Given the description of an element on the screen output the (x, y) to click on. 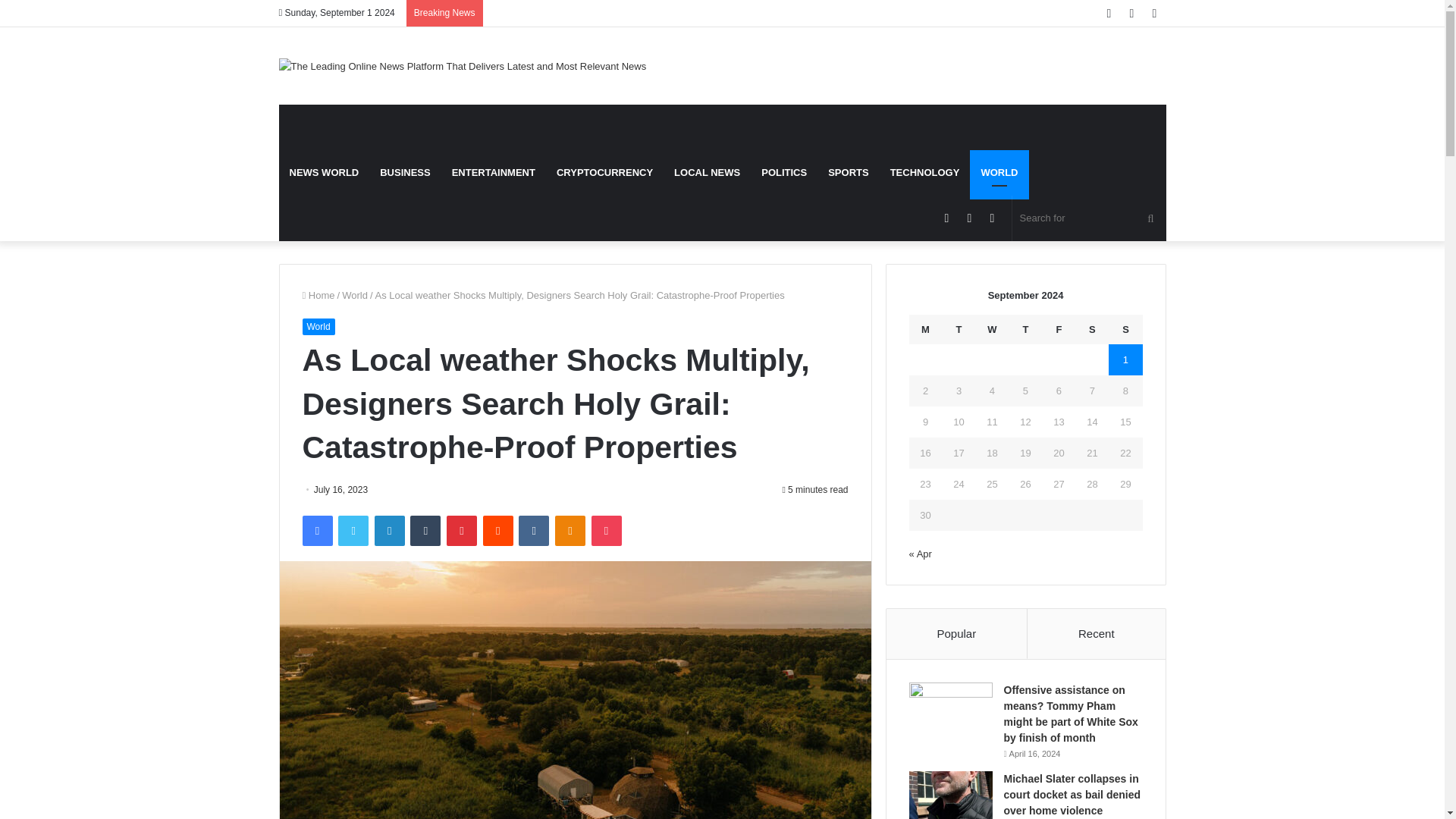
LOCAL NEWS (707, 172)
Tumblr (425, 530)
LinkedIn (389, 530)
LinkedIn (389, 530)
Reddit (498, 530)
SPORTS (847, 172)
VKontakte (533, 530)
VKontakte (533, 530)
World (355, 295)
